Given the description of an element on the screen output the (x, y) to click on. 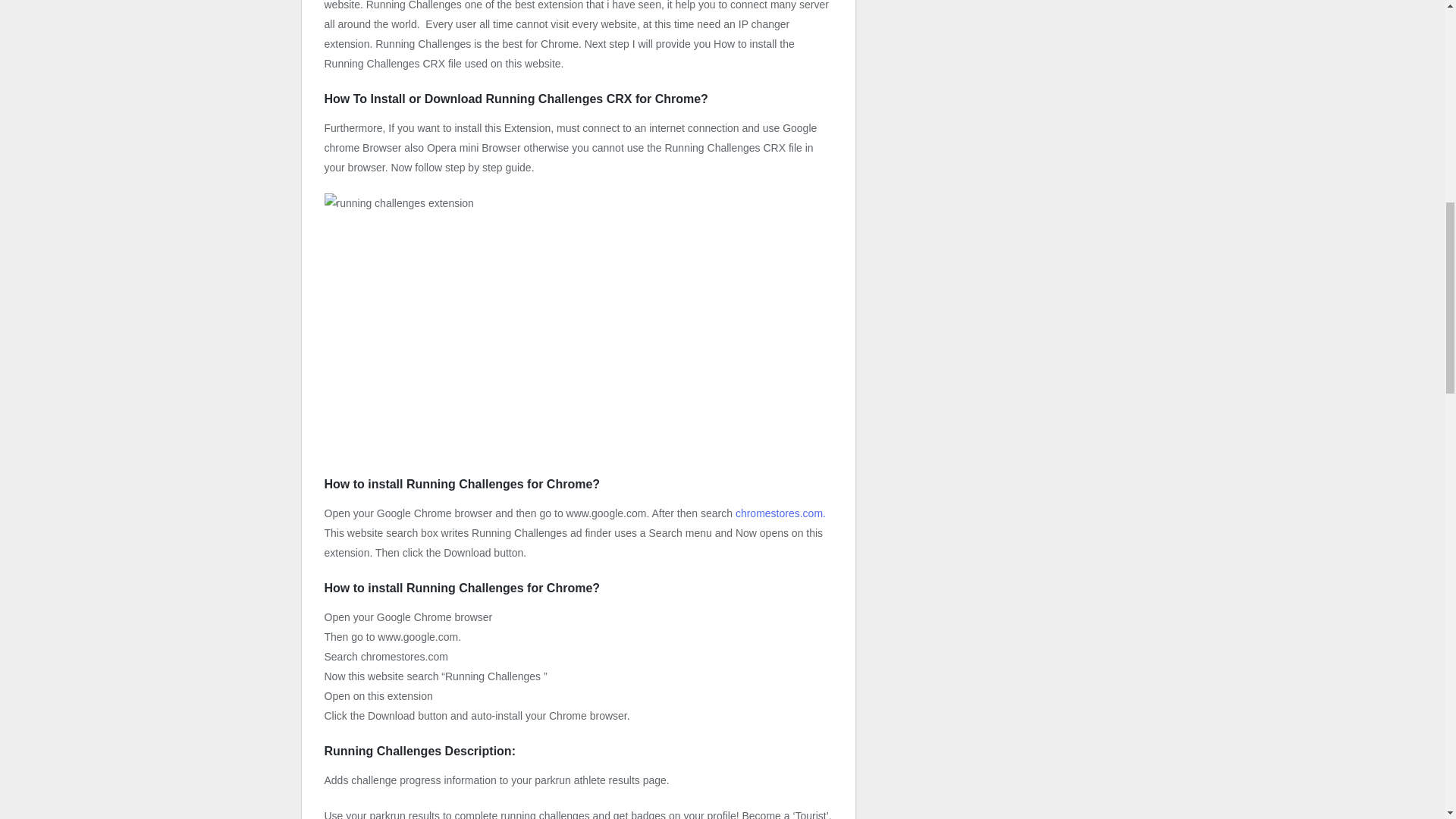
chromestores.com. (780, 512)
